Given the description of an element on the screen output the (x, y) to click on. 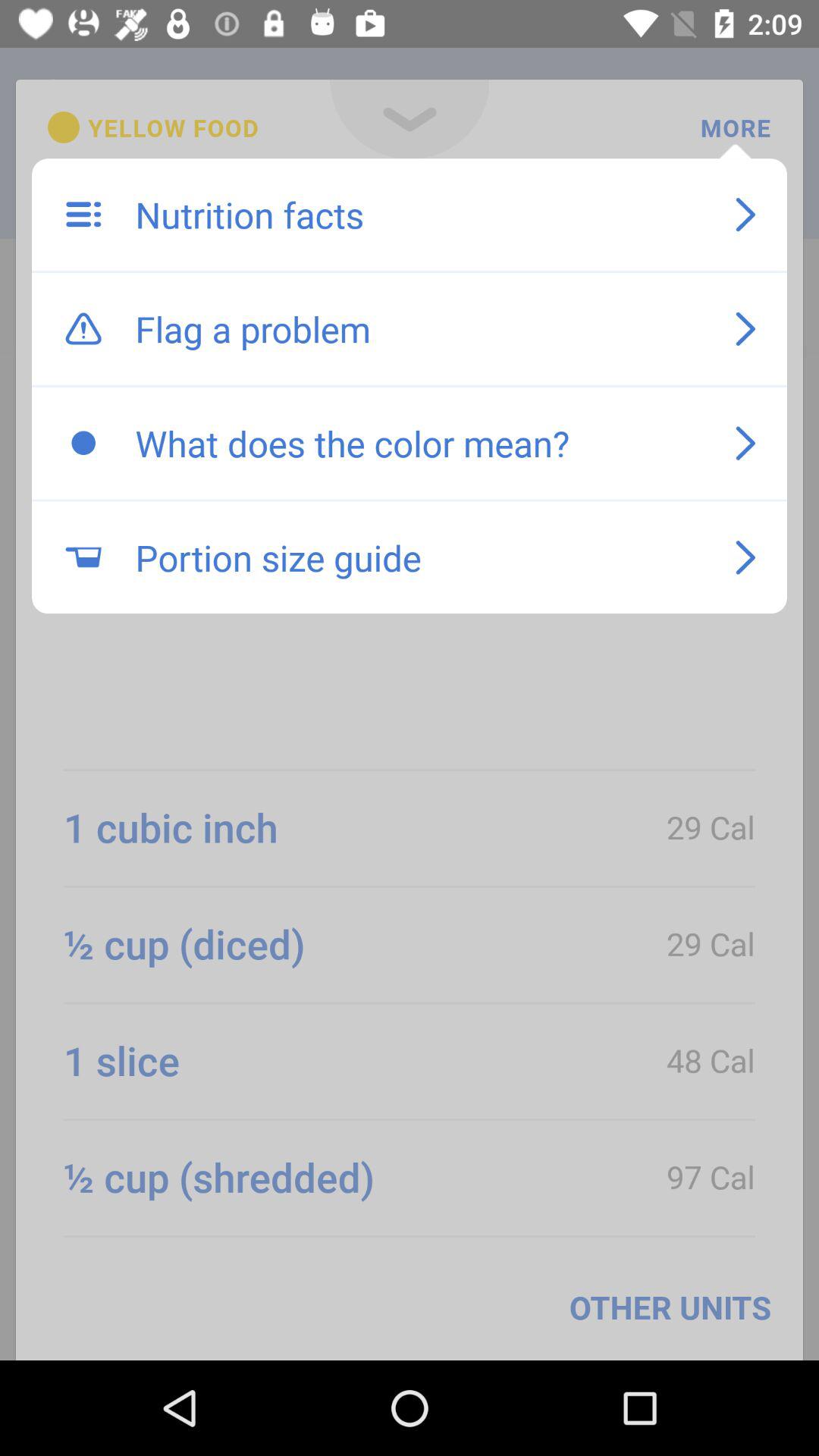
turn off the portion size guide item (419, 557)
